Given the description of an element on the screen output the (x, y) to click on. 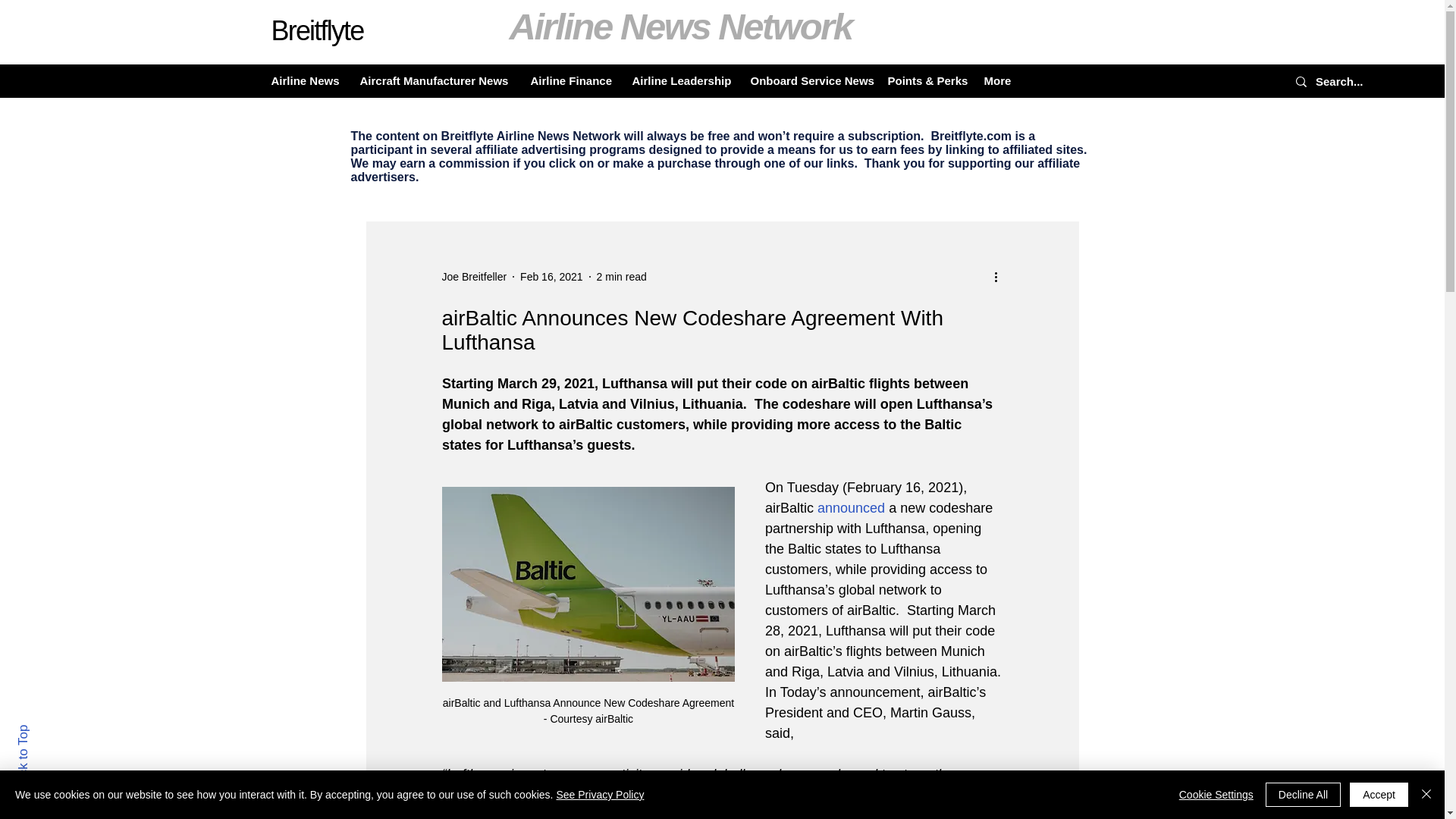
Feb 16, 2021 (551, 275)
Aircraft Manufacturer News (434, 81)
Airline Leadership (679, 81)
Airline Finance (569, 81)
Onboard Service News (807, 81)
2 min read (621, 275)
Back to Top (49, 730)
announced (850, 507)
Breitflyte (317, 30)
Airline News (303, 81)
